Given the description of an element on the screen output the (x, y) to click on. 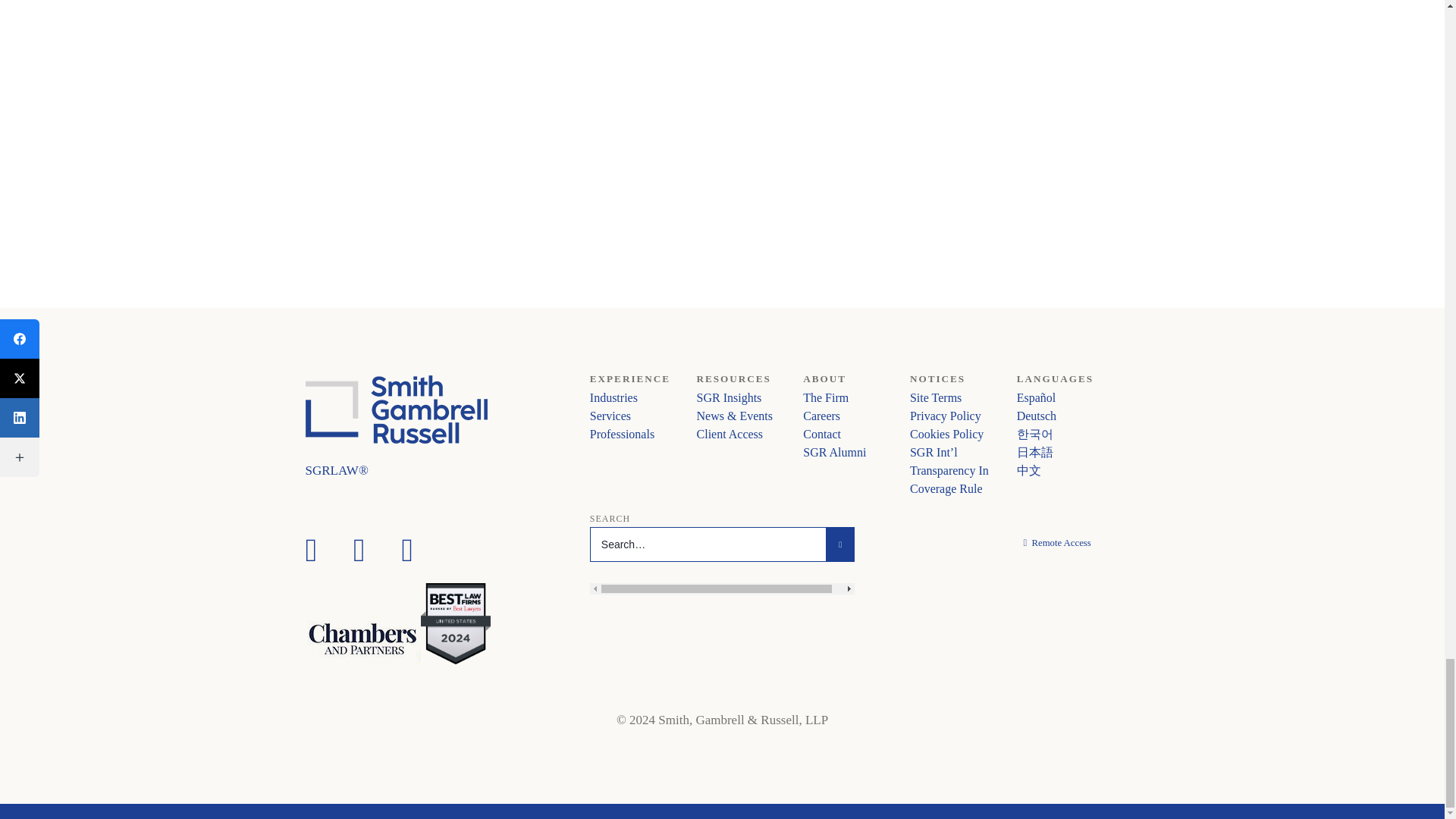
Site Terms (935, 397)
Services (609, 415)
Client Access (729, 433)
Privacy Policy (945, 415)
Contact (822, 433)
Professionals (621, 433)
SGR Insights (729, 397)
SGR Alumni (834, 451)
Industries (613, 397)
Cookies Policy (947, 433)
